Given the description of an element on the screen output the (x, y) to click on. 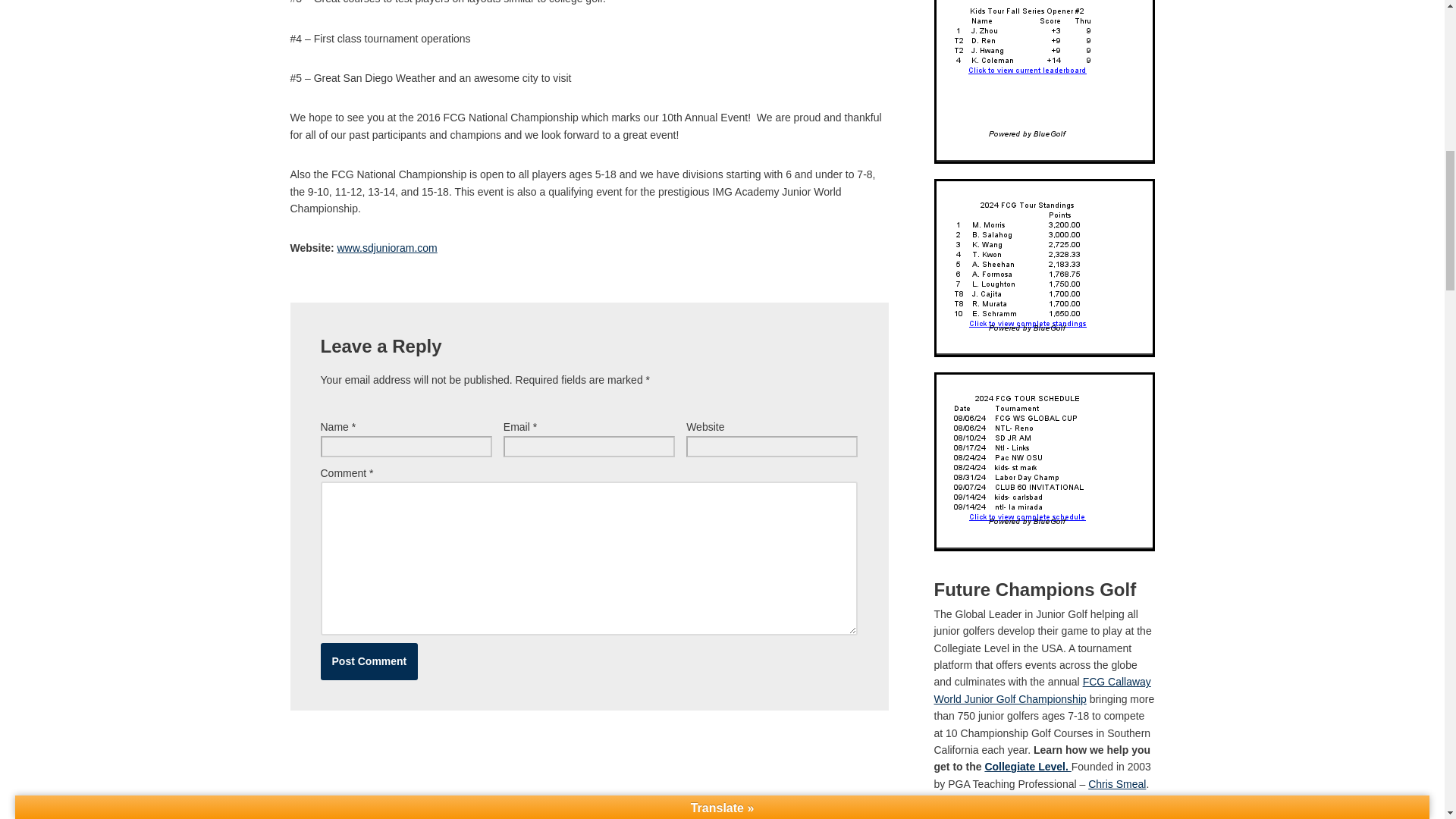
Post Comment (368, 660)
